Given the description of an element on the screen output the (x, y) to click on. 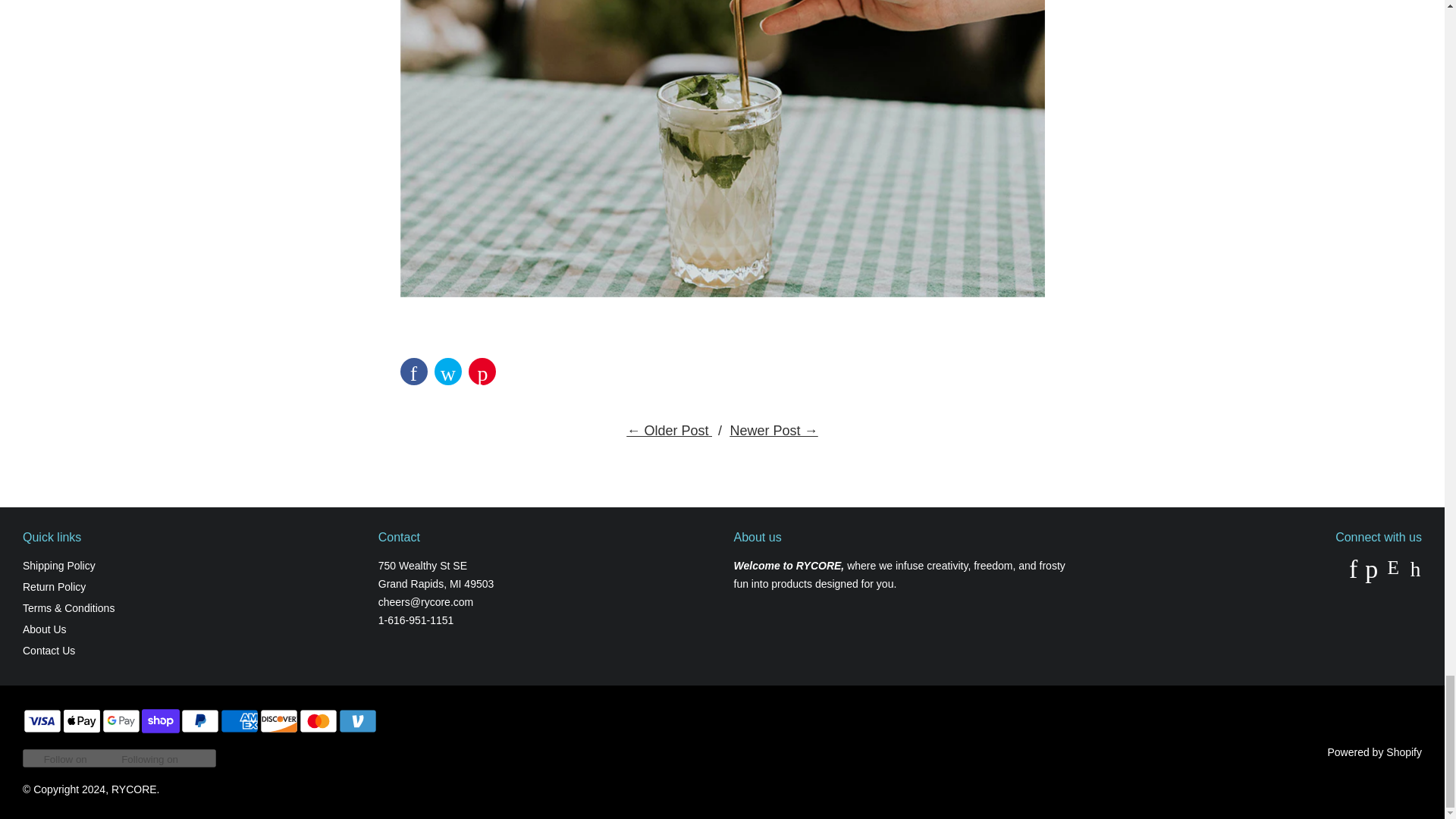
Share on Pinterest (482, 370)
Share on Twitter (447, 370)
Share on Facebook (414, 370)
